Given the description of an element on the screen output the (x, y) to click on. 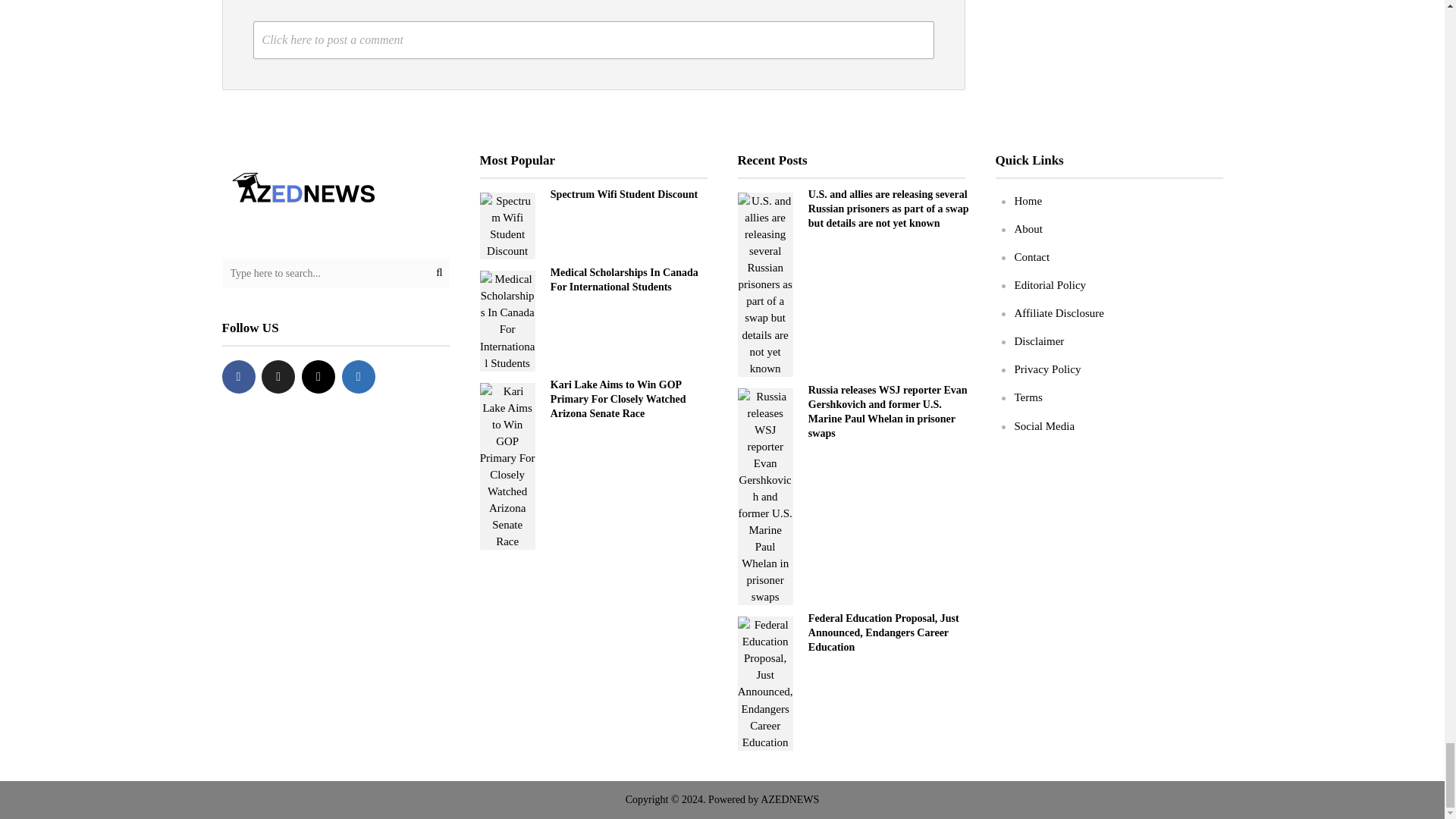
Facebook (237, 376)
Linkedin (358, 376)
Instagram (317, 376)
